Given the description of an element on the screen output the (x, y) to click on. 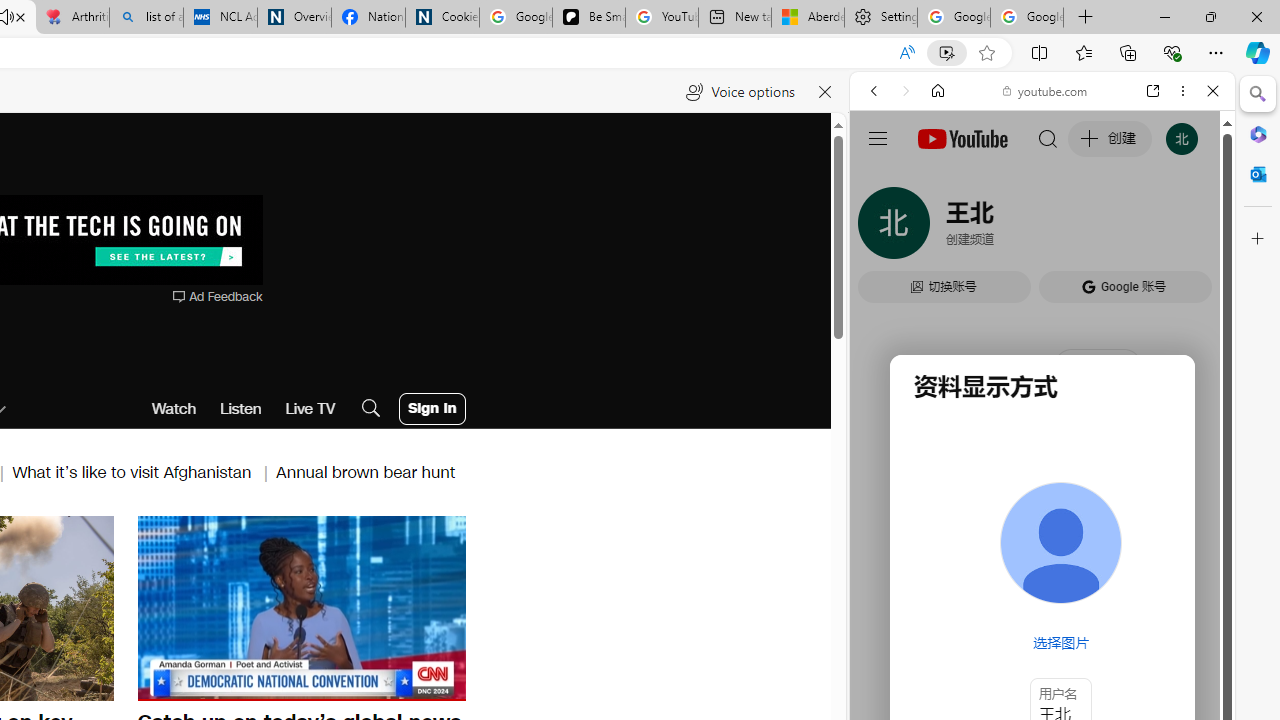
Voice options (740, 92)
Show More Music (1164, 546)
Mute (164, 683)
